Given the description of an element on the screen output the (x, y) to click on. 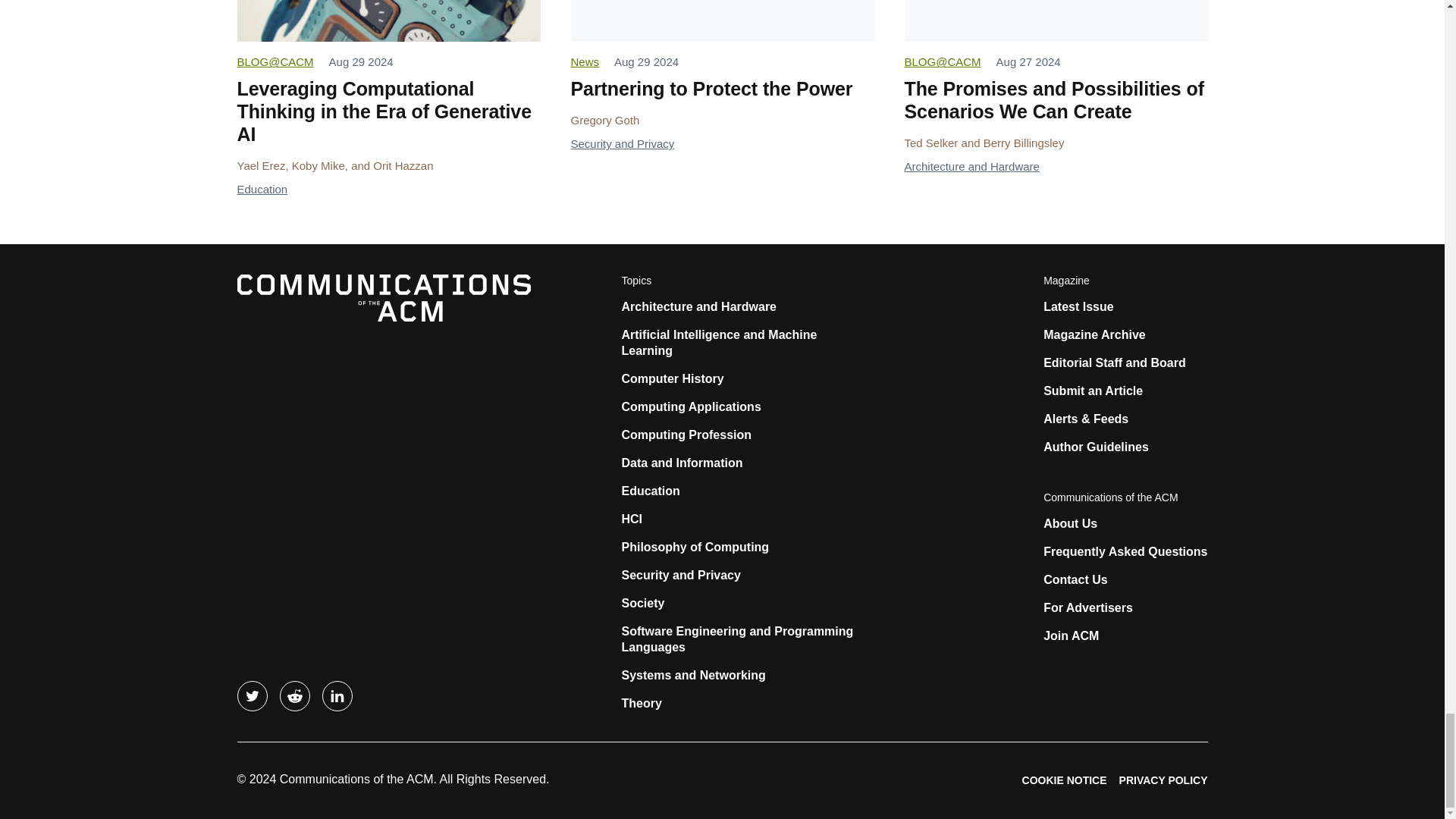
Posts by Ted Selker (931, 142)
Posts by Gregory Goth (604, 119)
Posts by Koby Mike (318, 164)
Posts by Yael Erez (260, 164)
Posts by Orit Hazzan (402, 164)
